Given the description of an element on the screen output the (x, y) to click on. 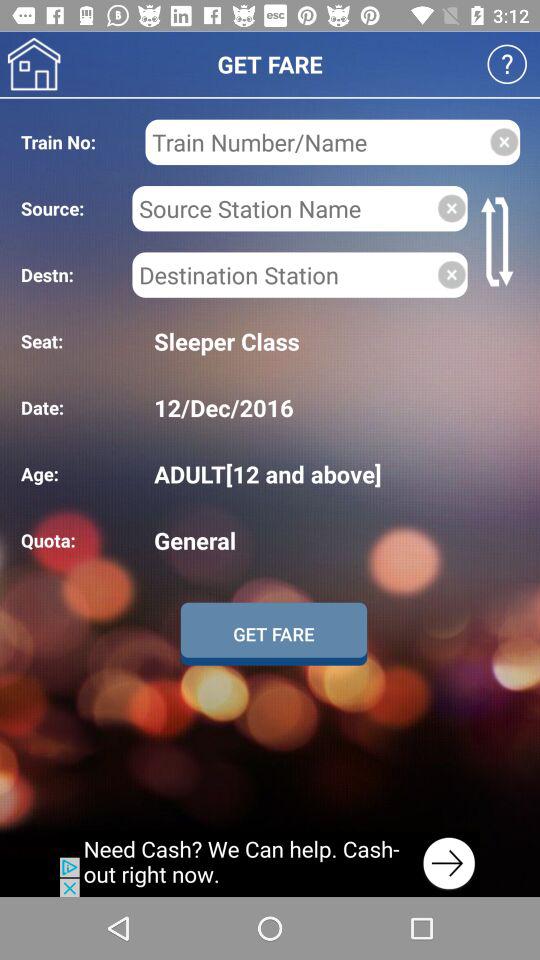
create destination (284, 274)
